Given the description of an element on the screen output the (x, y) to click on. 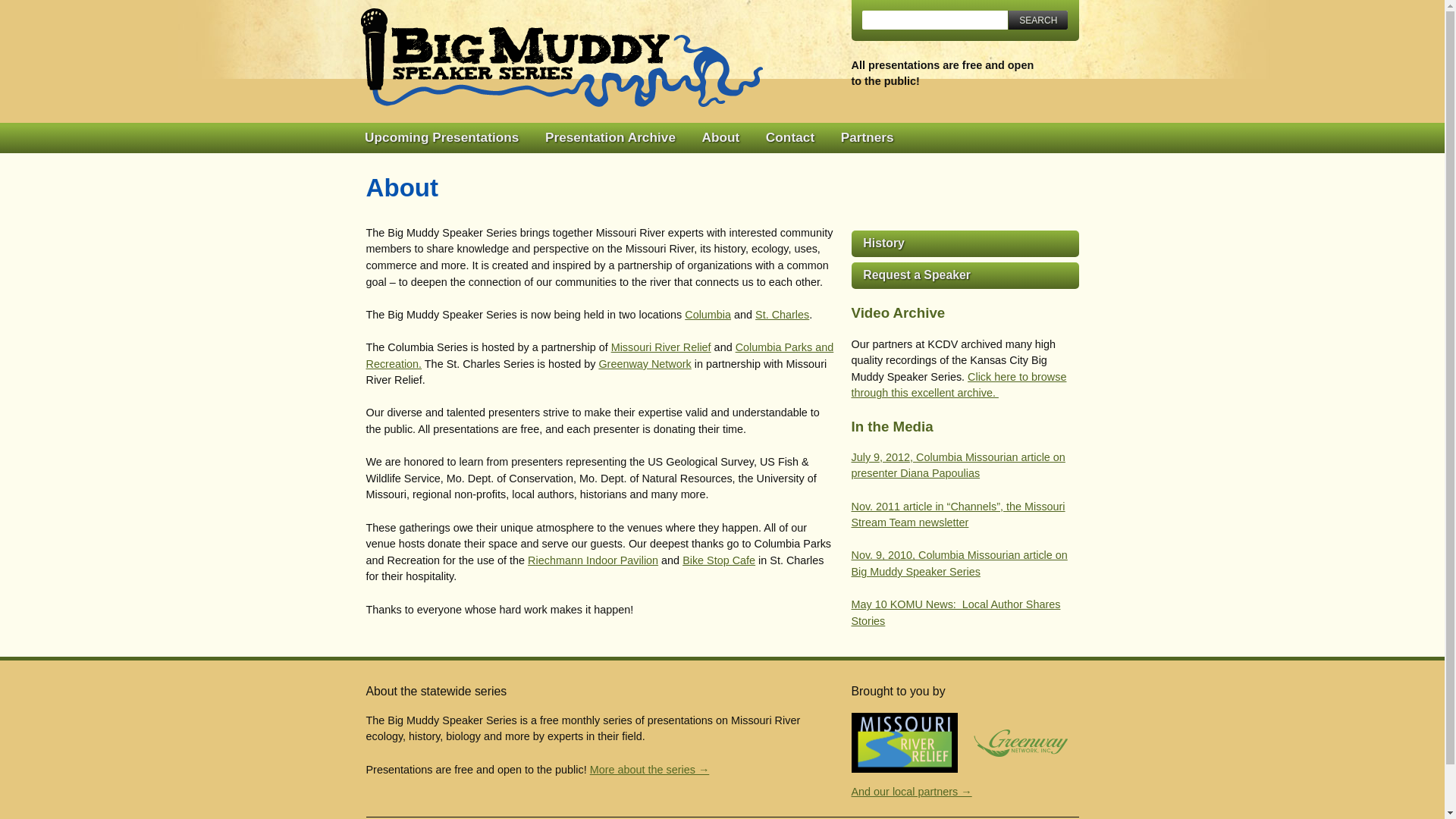
Upcoming Presentations (441, 138)
Request a Speaker (964, 275)
Partners (866, 138)
Local Author Shares Stories (954, 612)
Missouri River Relief (661, 346)
May 10 KOMU News:  Local Author Shares Stories (954, 612)
History (964, 243)
St. Charles (782, 314)
Greenway Network (644, 363)
